Given the description of an element on the screen output the (x, y) to click on. 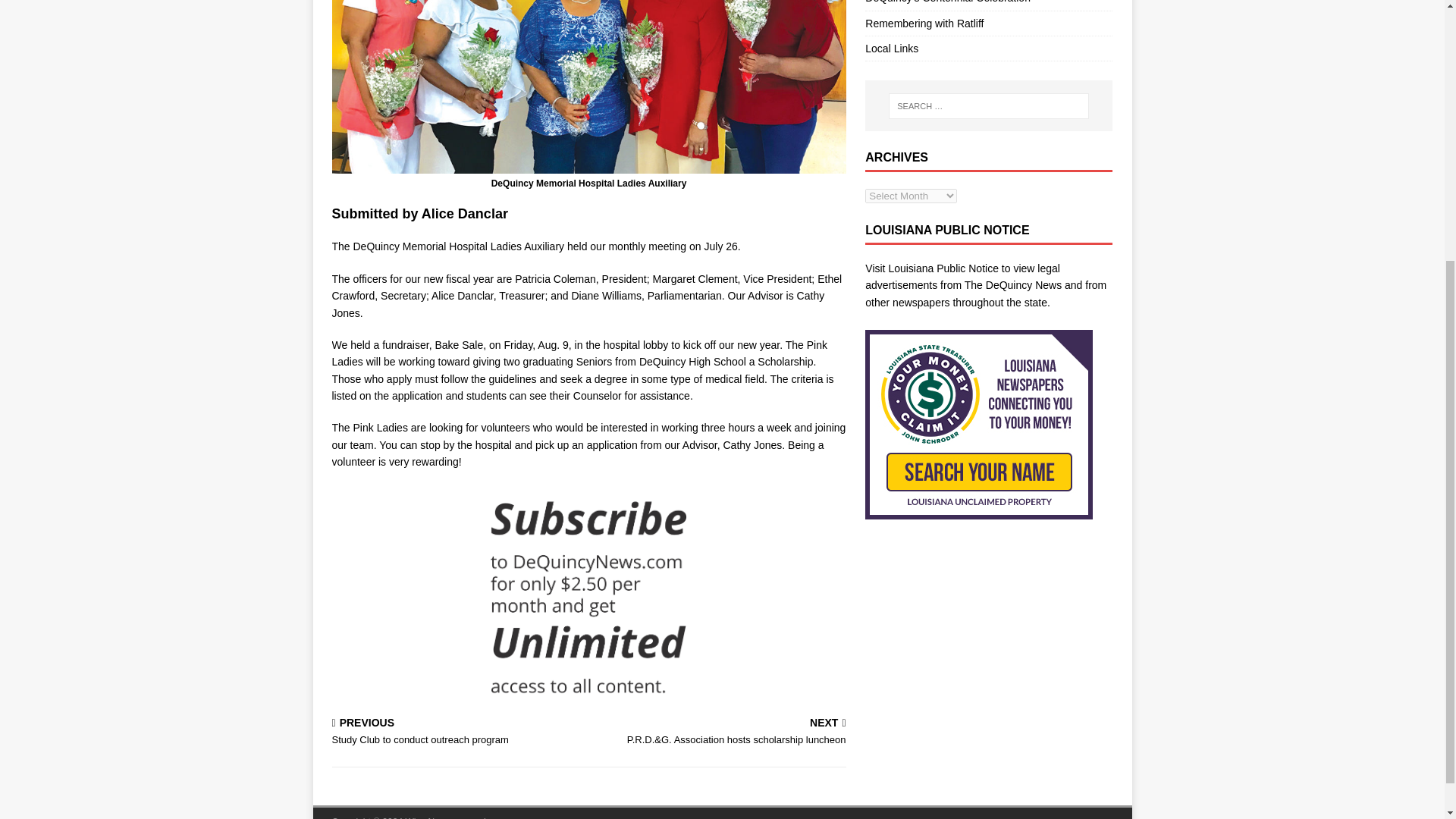
Louisiana Public Notice (943, 268)
Local Links (988, 48)
Remembering with Ratliff (457, 732)
